Given the description of an element on the screen output the (x, y) to click on. 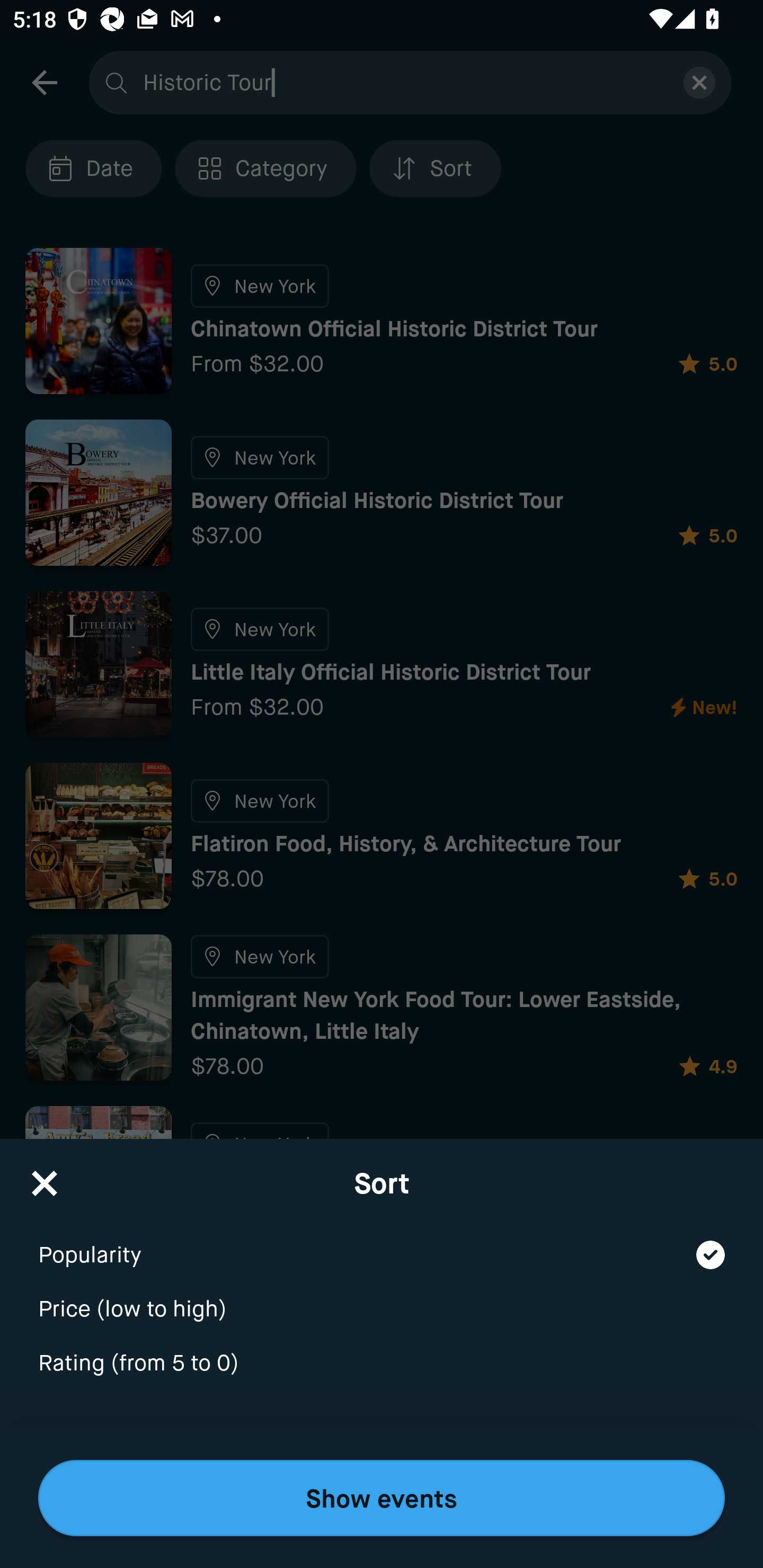
CloseButton (44, 1177)
Popularity Selected Icon (381, 1243)
Price (low to high) (381, 1297)
Rating (from 5 to 0) (381, 1362)
Show events (381, 1497)
